Given the description of an element on the screen output the (x, y) to click on. 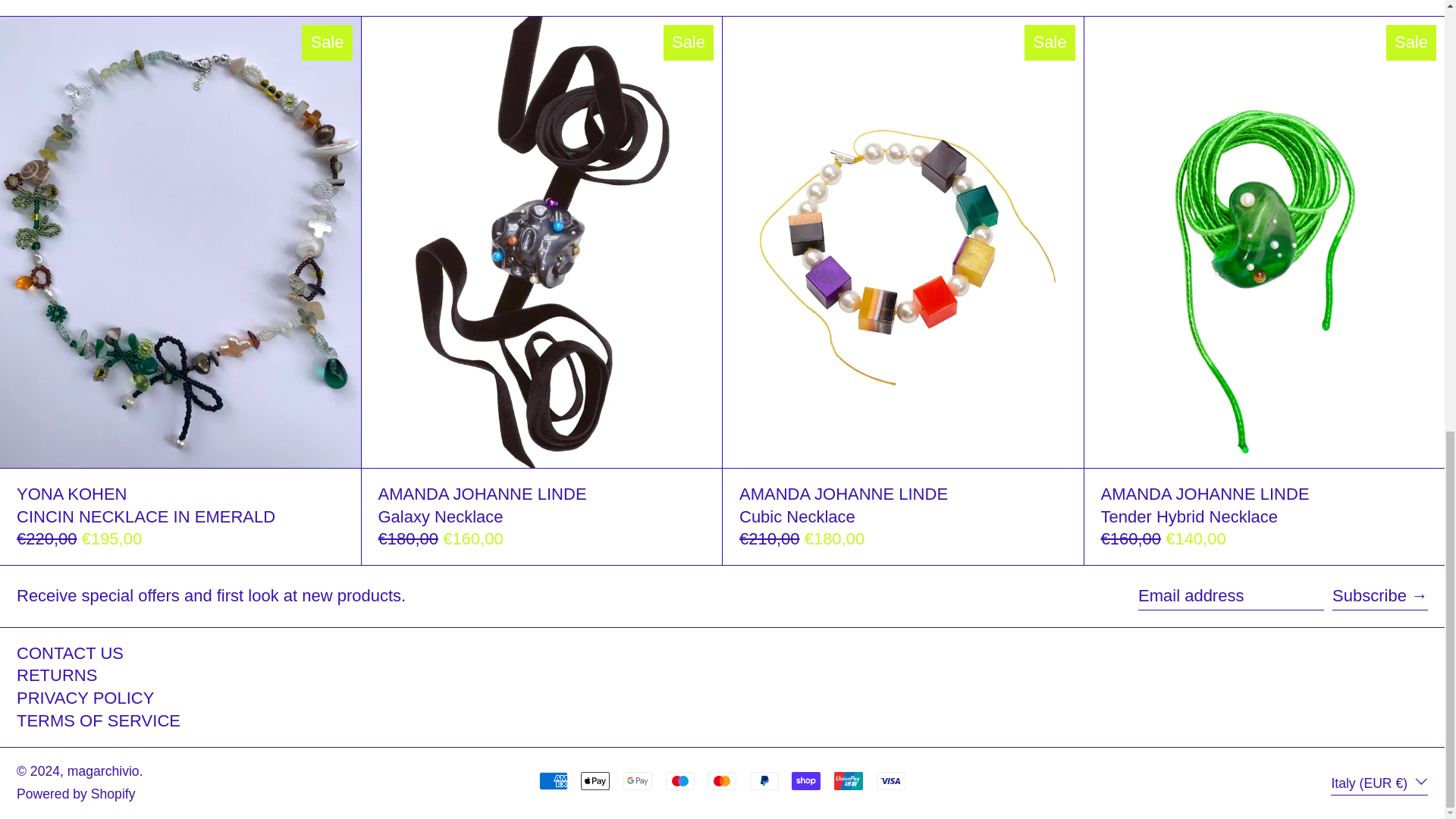
TERMS OF SERVICE (98, 720)
PRIVACY POLICY (85, 697)
Powered by Shopify (75, 793)
CONTACT US (69, 652)
Subscribe (1380, 595)
RETURNS (56, 674)
magarchivio (102, 770)
